Given the description of an element on the screen output the (x, y) to click on. 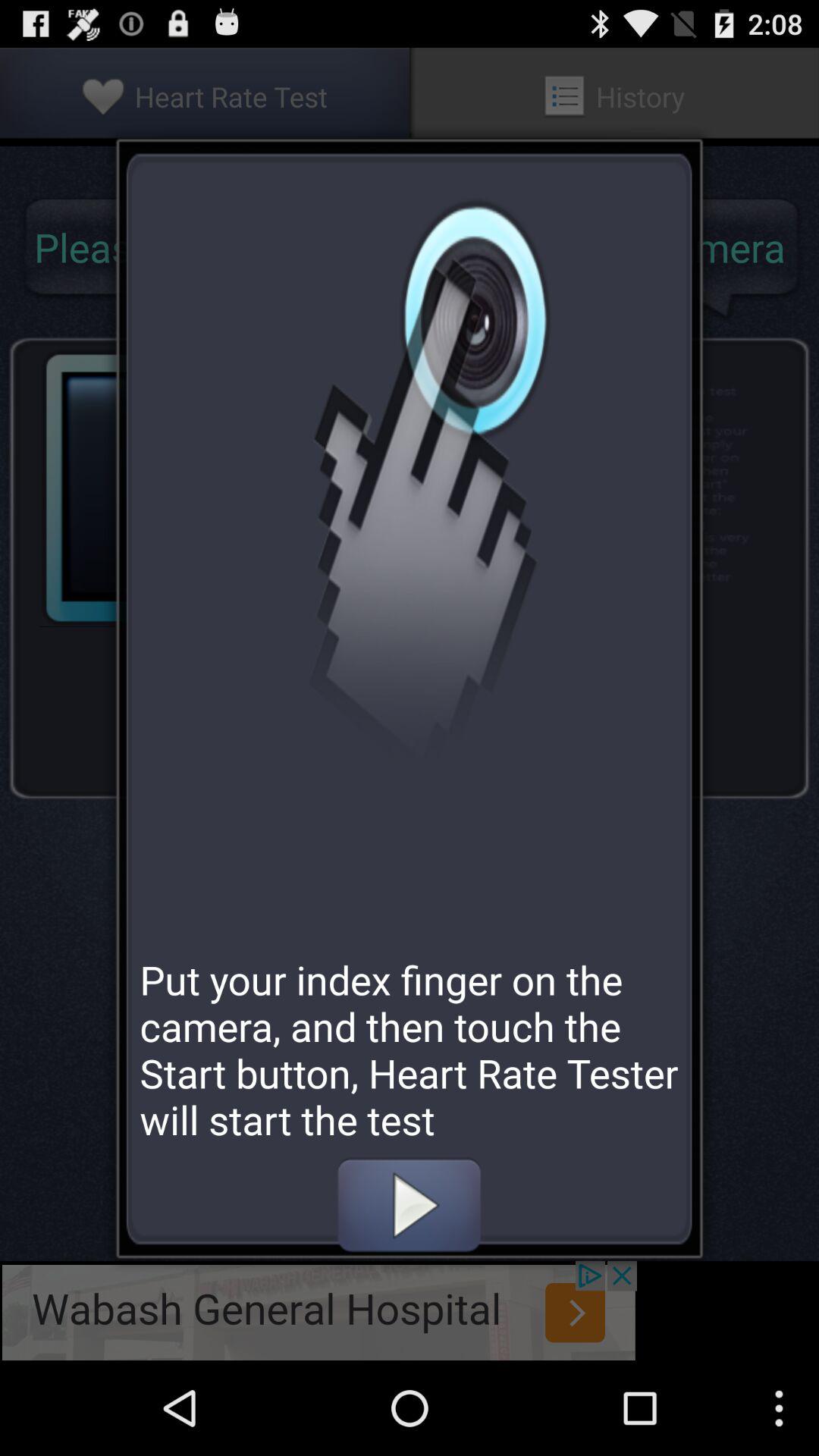
play (408, 1205)
